Given the description of an element on the screen output the (x, y) to click on. 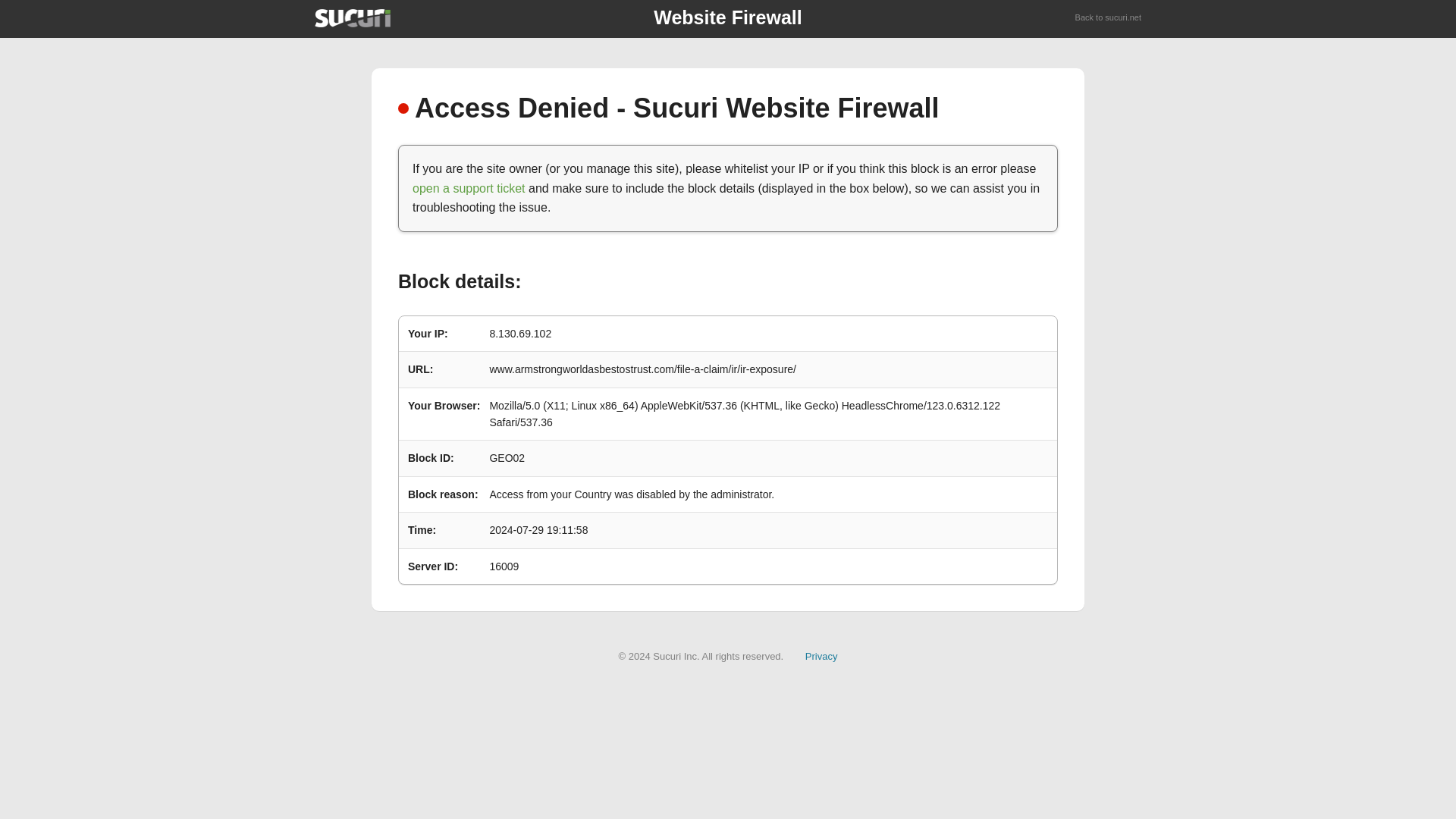
Back to sucuri.net (1108, 18)
Privacy (821, 655)
open a support ticket (468, 187)
